Given the description of an element on the screen output the (x, y) to click on. 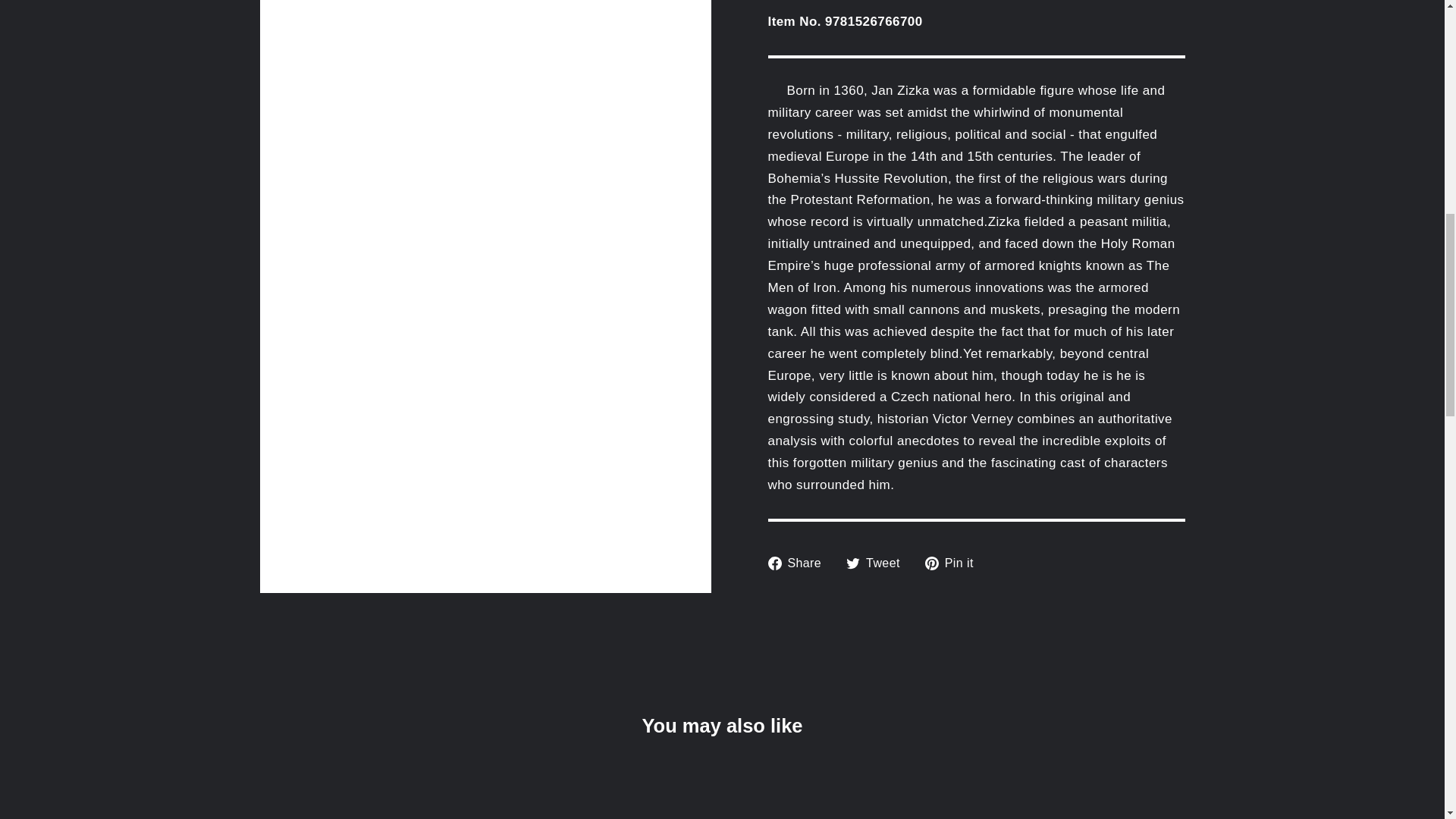
Pin on Pinterest (954, 562)
Tweet on Twitter (878, 562)
Share on Facebook (799, 562)
